Given the description of an element on the screen output the (x, y) to click on. 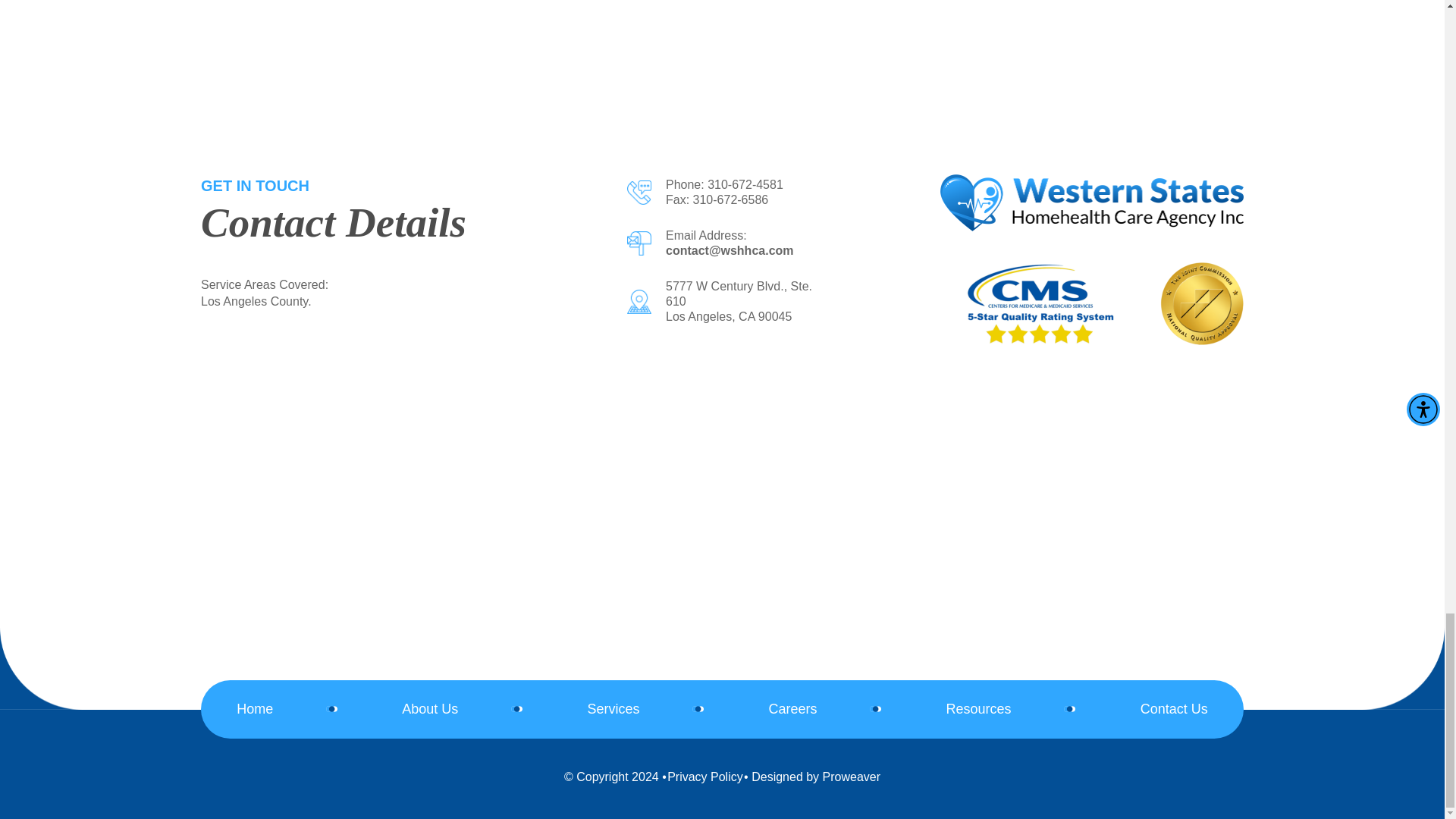
About Us (429, 709)
Proweaver (851, 776)
Services (612, 709)
Careers (792, 709)
Resources (978, 709)
Home (254, 709)
Contact Us (1174, 709)
Privacy Policy (704, 776)
310-672-4581 (745, 184)
